Given the description of an element on the screen output the (x, y) to click on. 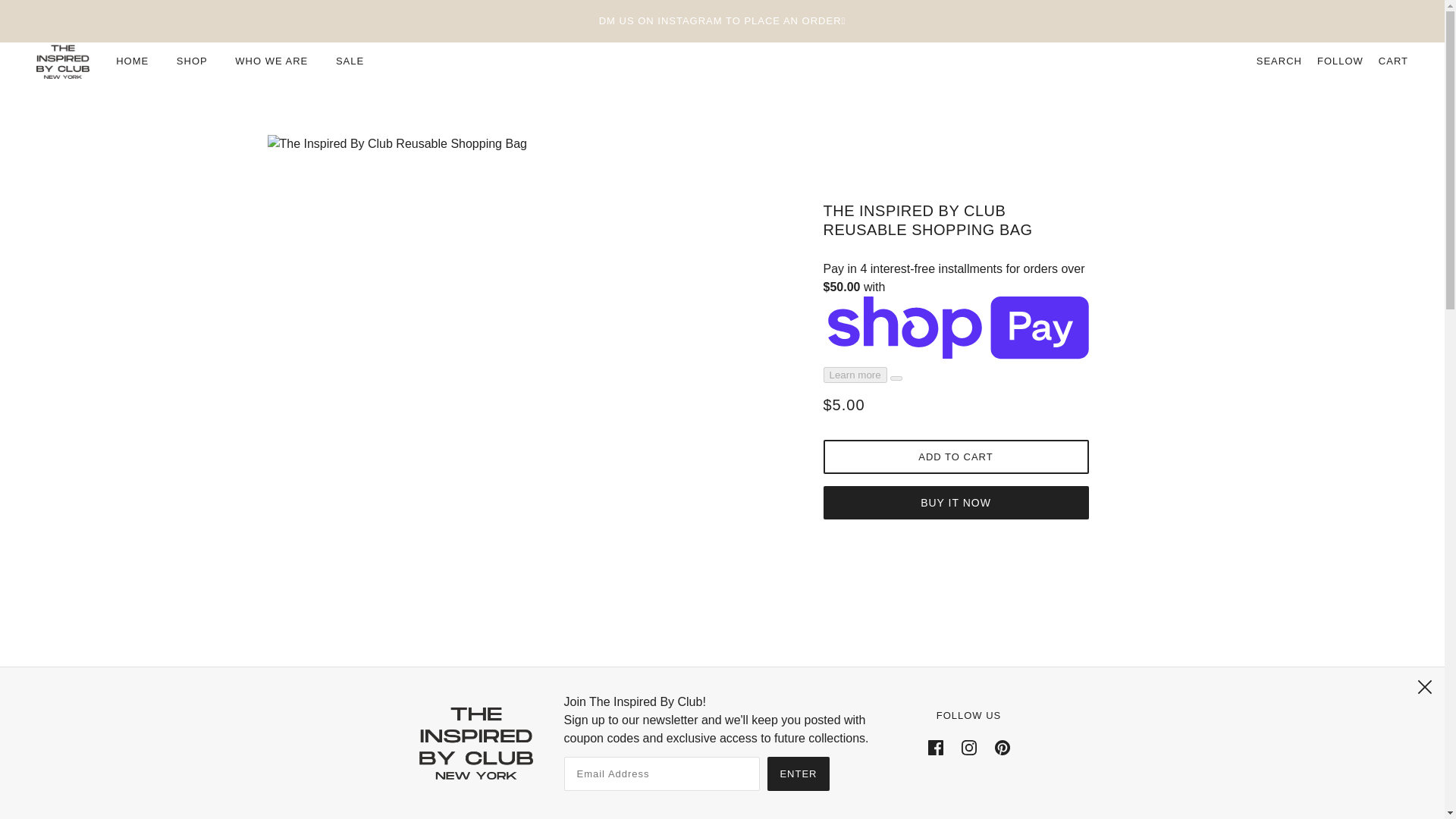
SEARCH (1278, 61)
HOME (131, 61)
SHOP (191, 61)
SALE (349, 61)
WHO WE ARE (271, 61)
Facebook (935, 747)
Pinterest (1002, 747)
ADD TO CART (956, 456)
THE INSPIRED BY CLUB REUSABLE SHOPPING BAG (956, 226)
BUY IT NOW (956, 502)
